Given the description of an element on the screen output the (x, y) to click on. 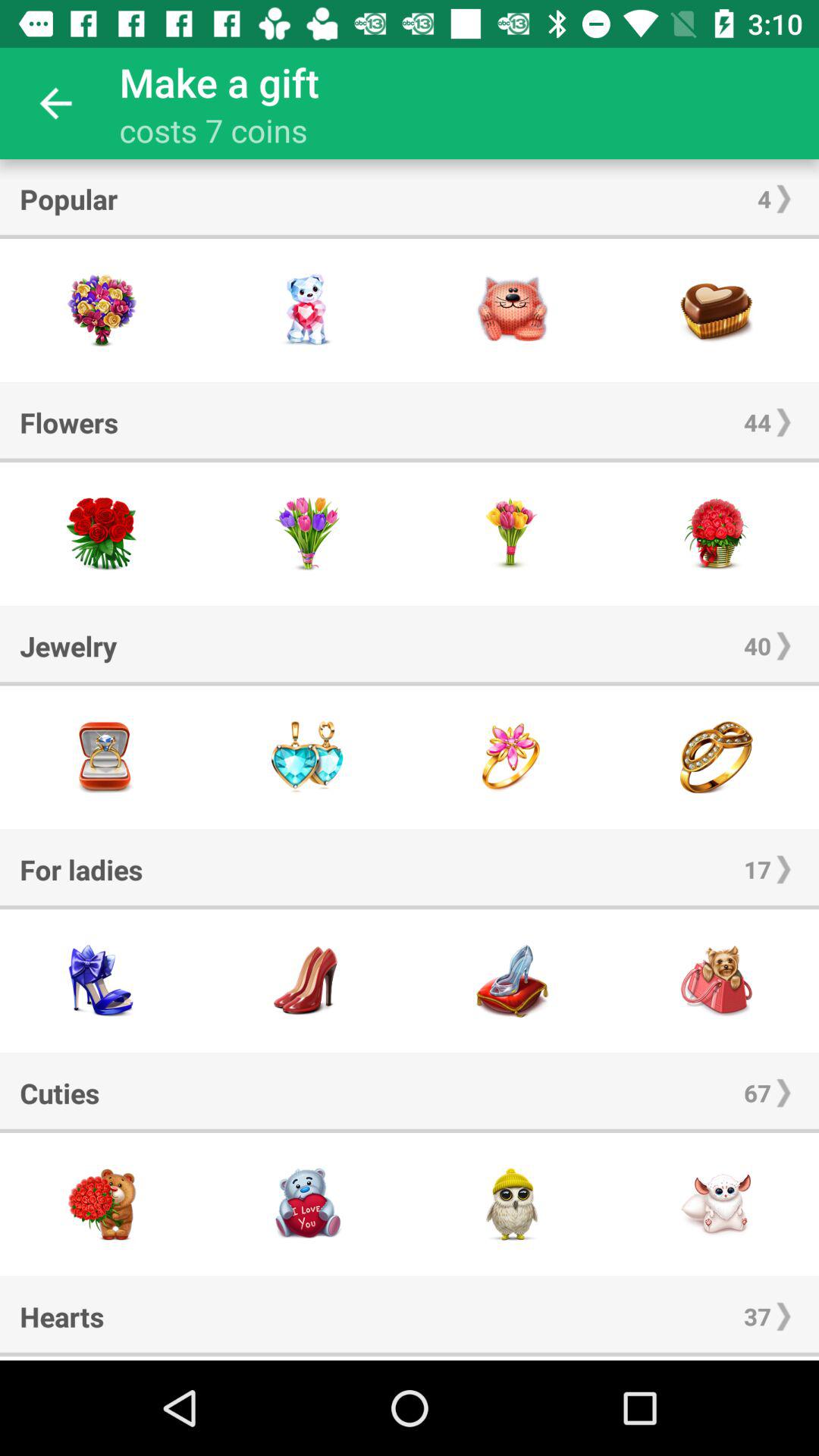
swipe until the 17 item (757, 869)
